Given the description of an element on the screen output the (x, y) to click on. 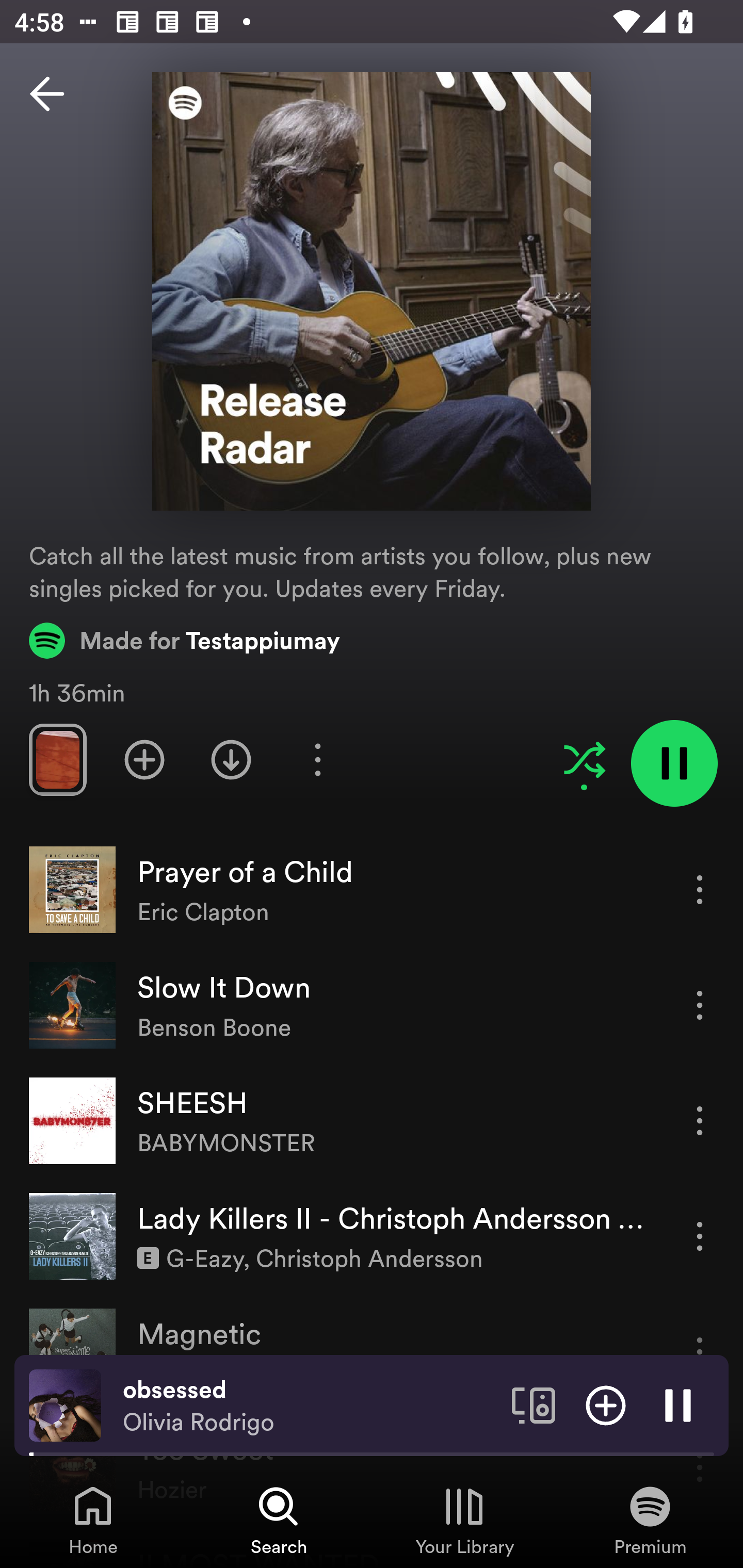
Back (46, 93)
Made for Testappiumay (184, 640)
Swipe through previews of tracks in this playlist. (57, 759)
Add playlist to Your Library (144, 759)
Download (230, 759)
More options for playlist Release Radar (317, 759)
Disable shuffle for this playlist (583, 759)
Pause playlist (674, 763)
More options for song Prayer of a Child (699, 889)
More options for song Slow It Down (699, 1004)
SHEESH BABYMONSTER More options for song SHEESH (371, 1121)
More options for song SHEESH (699, 1120)
obsessed Olivia Rodrigo (309, 1405)
The cover art of the currently playing track (64, 1404)
Connect to a device. Opens the devices menu (533, 1404)
Add item (605, 1404)
Pause (677, 1404)
Home, Tab 1 of 4 Home Home (92, 1519)
Search, Tab 2 of 4 Search Search (278, 1519)
Your Library, Tab 3 of 4 Your Library Your Library (464, 1519)
Premium, Tab 4 of 4 Premium Premium (650, 1519)
